Given the description of an element on the screen output the (x, y) to click on. 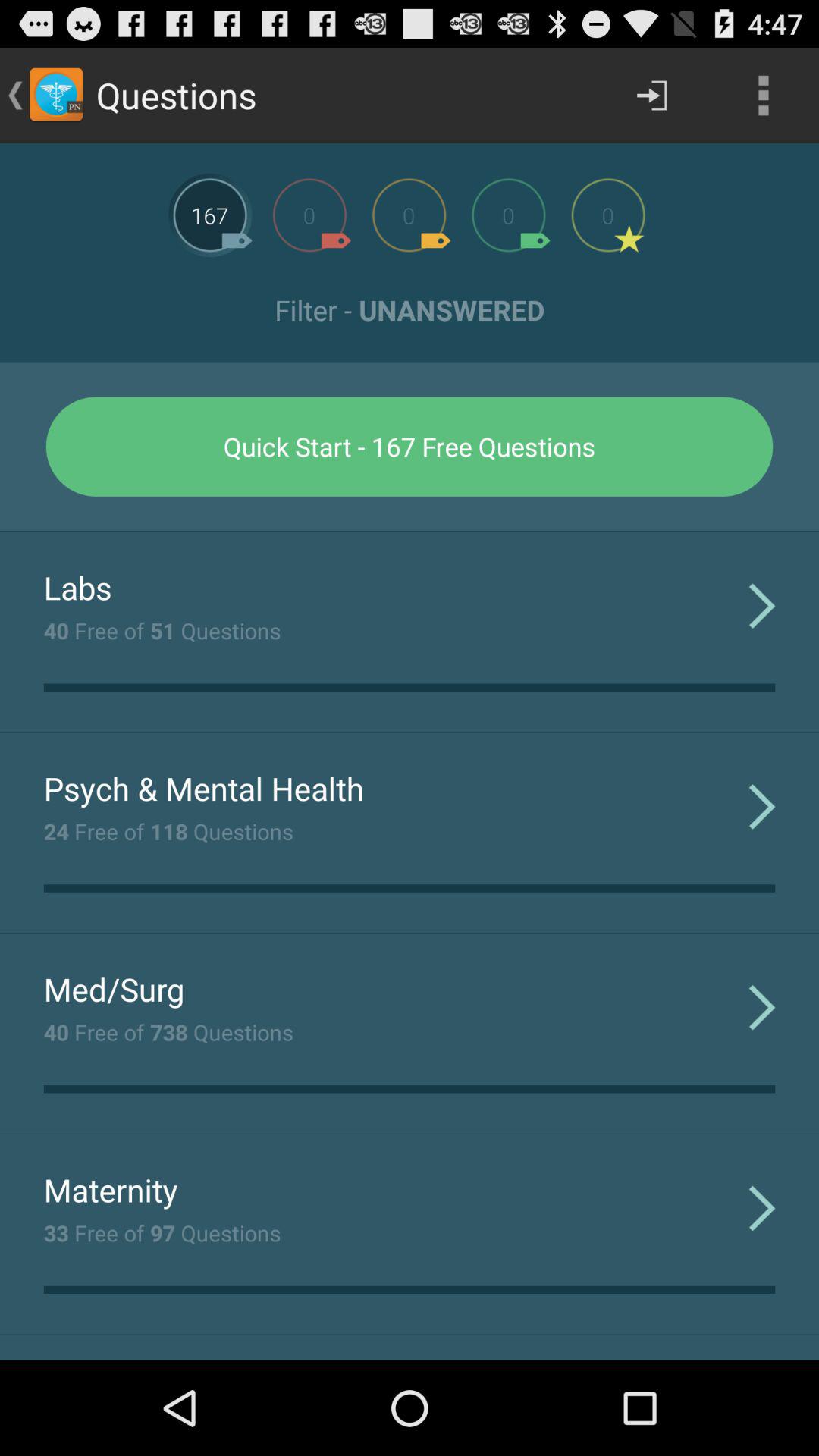
favorite count (608, 215)
